Given the description of an element on the screen output the (x, y) to click on. 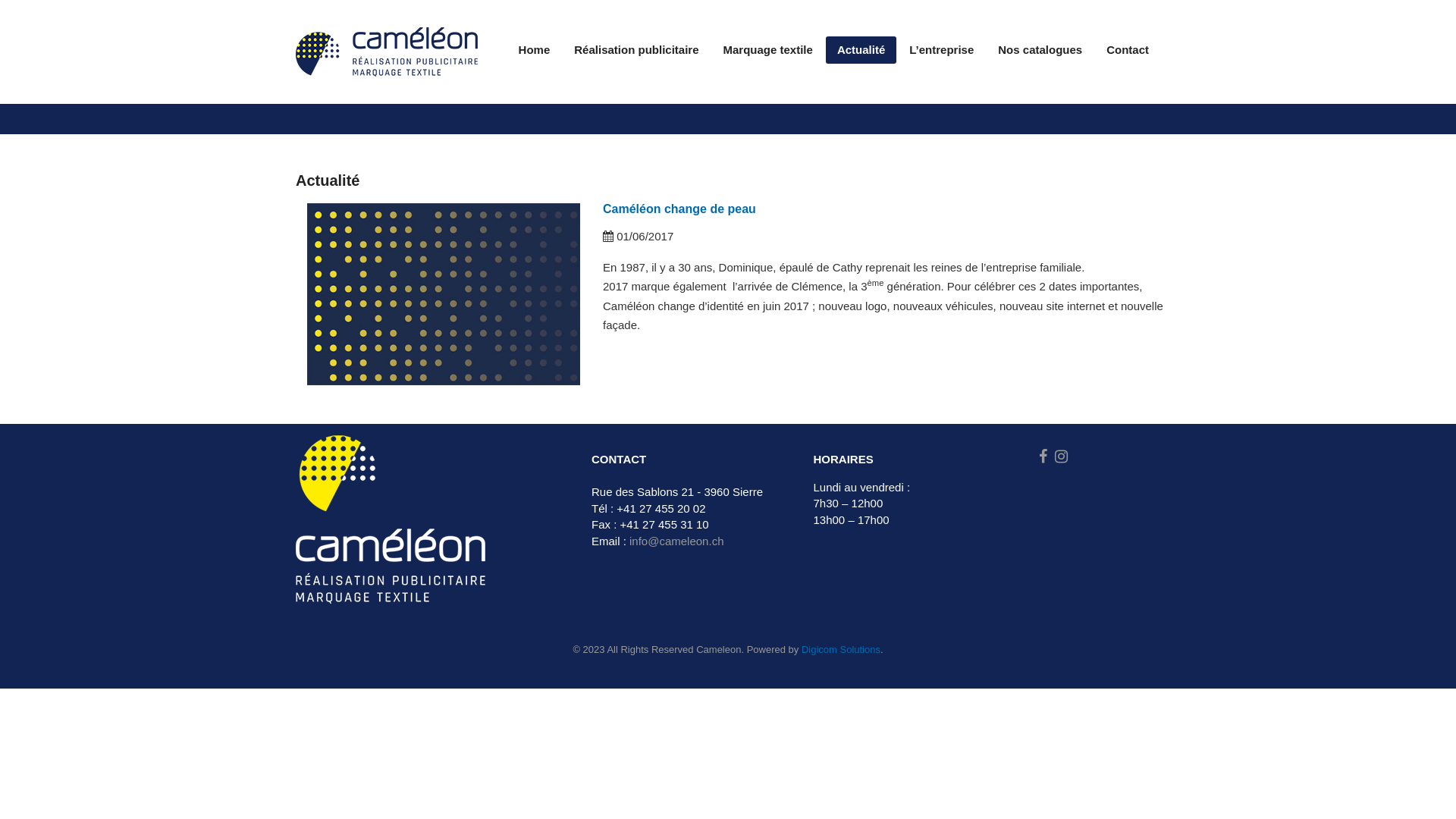
Instagram Element type: hover (1060, 456)
Home Element type: text (534, 49)
info@cameleon.ch Element type: text (676, 540)
Digicom Solutions Element type: text (840, 649)
Contact Element type: text (1127, 49)
Marquage textile Element type: text (767, 49)
Nos catalogues Element type: text (1039, 49)
Facebook Element type: hover (1042, 456)
